Given the description of an element on the screen output the (x, y) to click on. 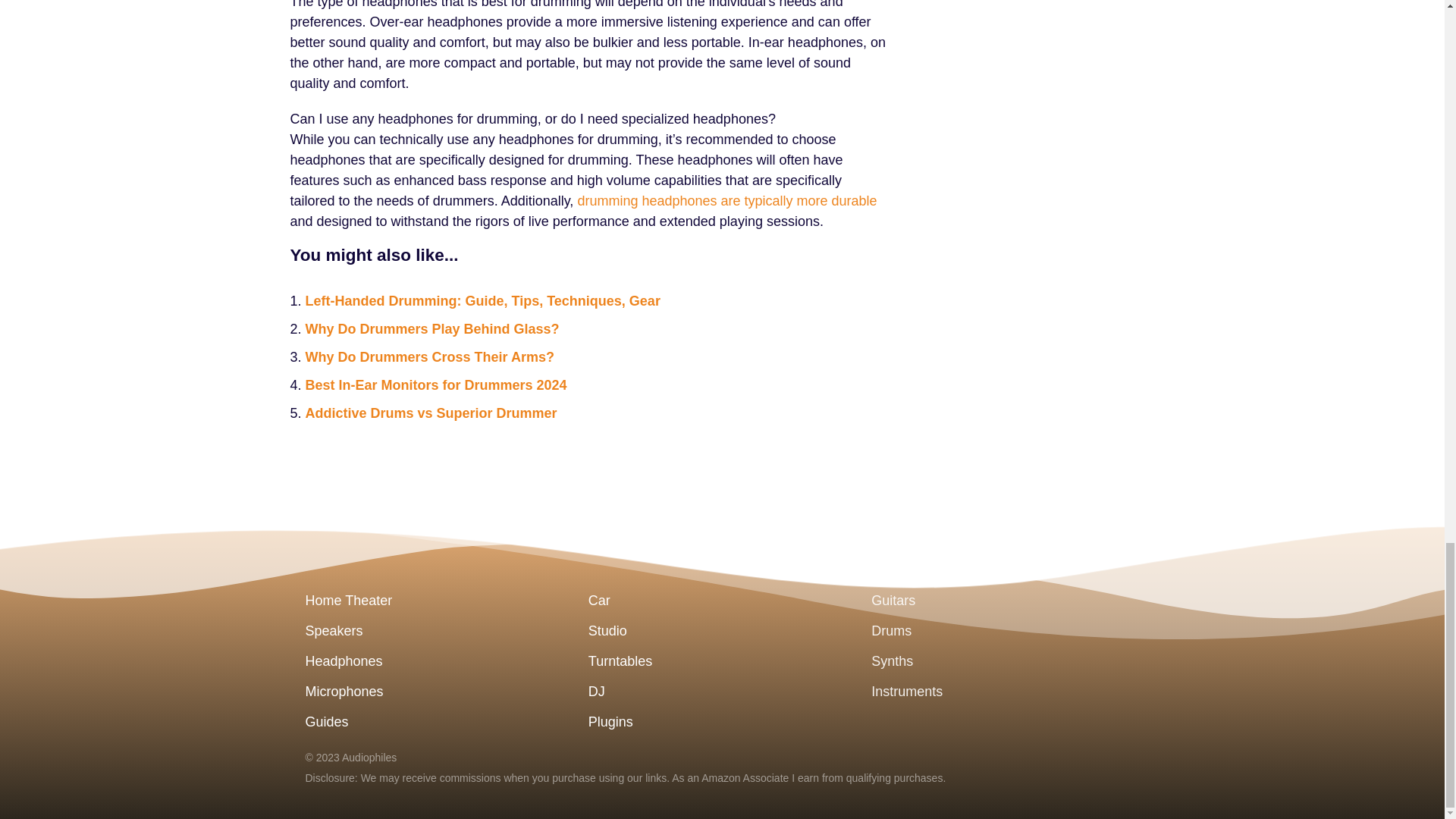
Why Do Drummers Play Behind Glass? (431, 328)
Why Do Drummers Cross Their Arms? (428, 355)
Left-Handed Drumming: Guide, Tips, Techniques, Gear (481, 299)
Addictive Drums vs Superior Drummer (430, 412)
Why Do Drummers Play Behind Glass? (431, 328)
Why Do Drummers Cross Their Arms? (428, 355)
Left-Handed Drumming: Guide, Tips, Techniques, Gear (481, 299)
Best In-Ear Monitors for Drummers 2024 (435, 385)
Addictive Drums vs Superior Drummer (430, 412)
drumming headphones are typically more durable (726, 200)
Best In-Ear Monitors for Drummers 2024 (435, 385)
